Given the description of an element on the screen output the (x, y) to click on. 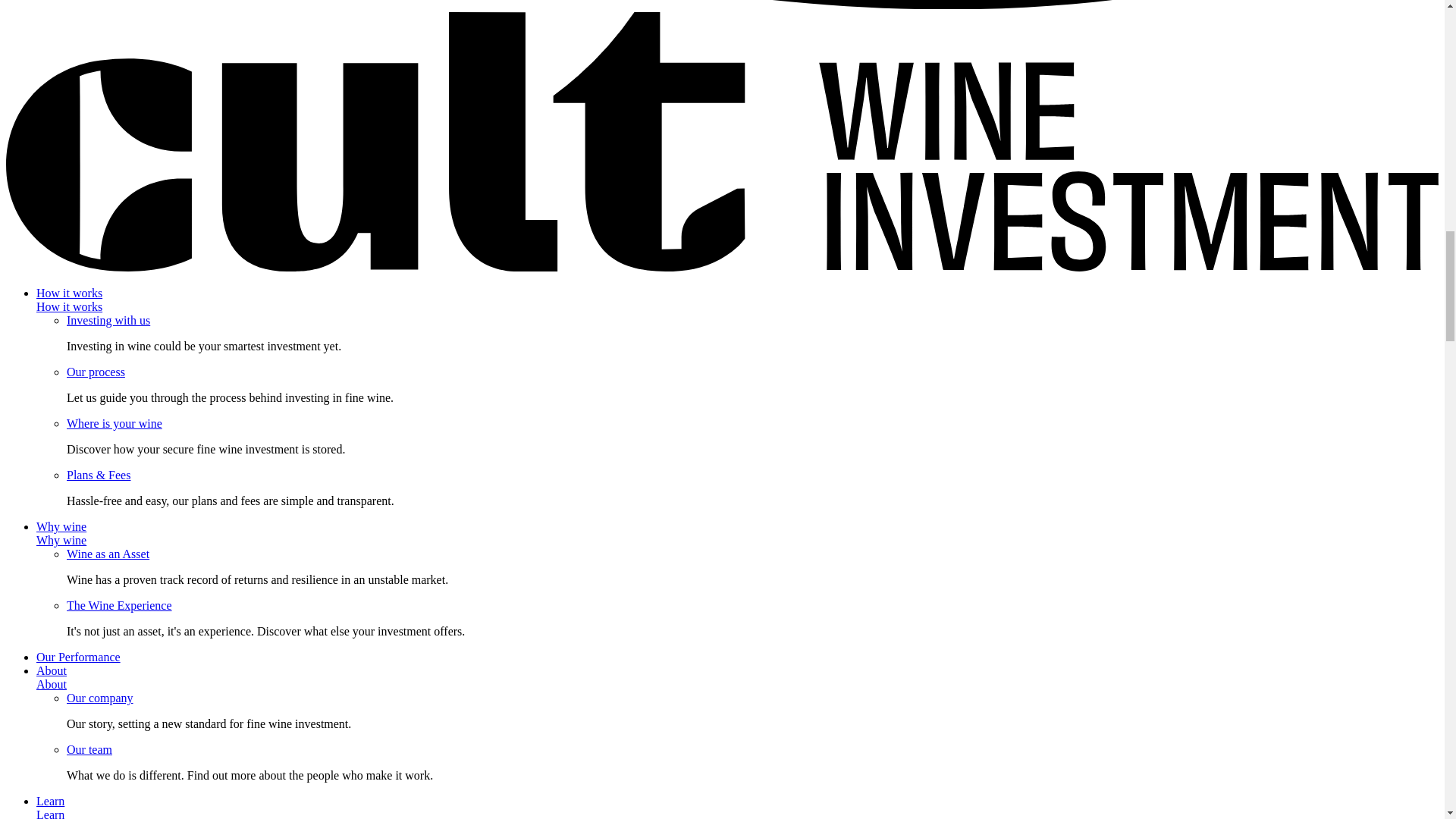
About (51, 684)
Why wine (60, 540)
Our team (89, 748)
Our Performance (78, 656)
How it works (68, 306)
The Wine Experience (118, 604)
Our process (95, 371)
Investing with us (107, 319)
Where is your wine (113, 422)
Our company (99, 697)
